Given the description of an element on the screen output the (x, y) to click on. 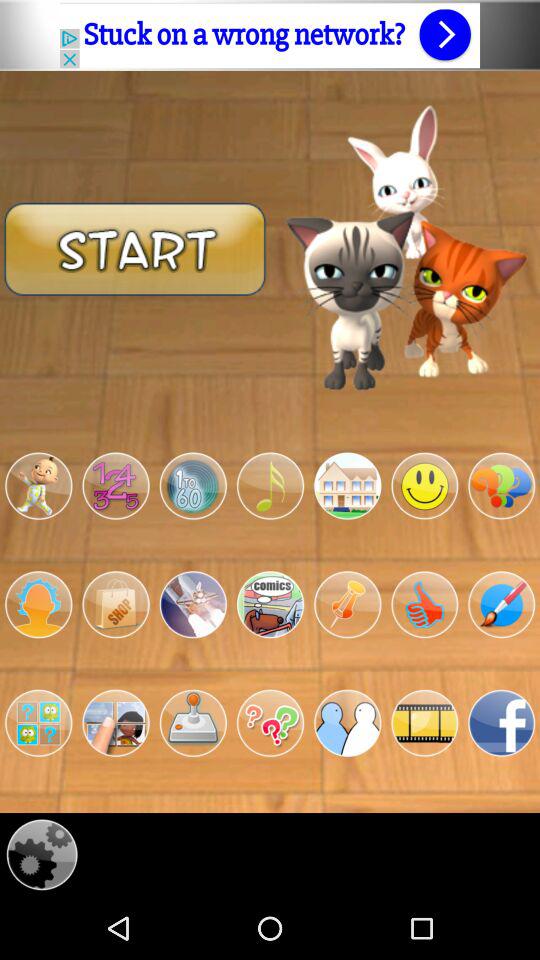
go to advertisement (270, 35)
